Given the description of an element on the screen output the (x, y) to click on. 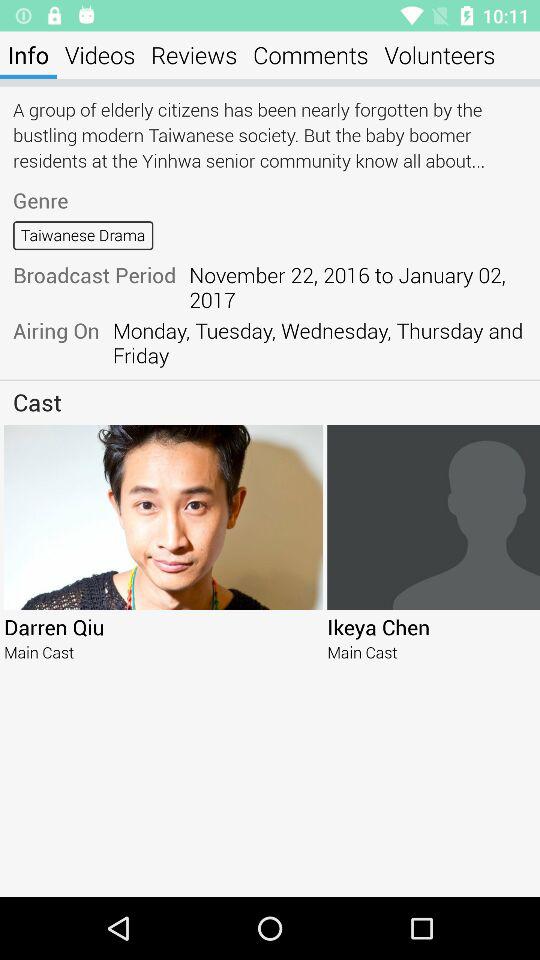
turn off the reviews icon (194, 54)
